Given the description of an element on the screen output the (x, y) to click on. 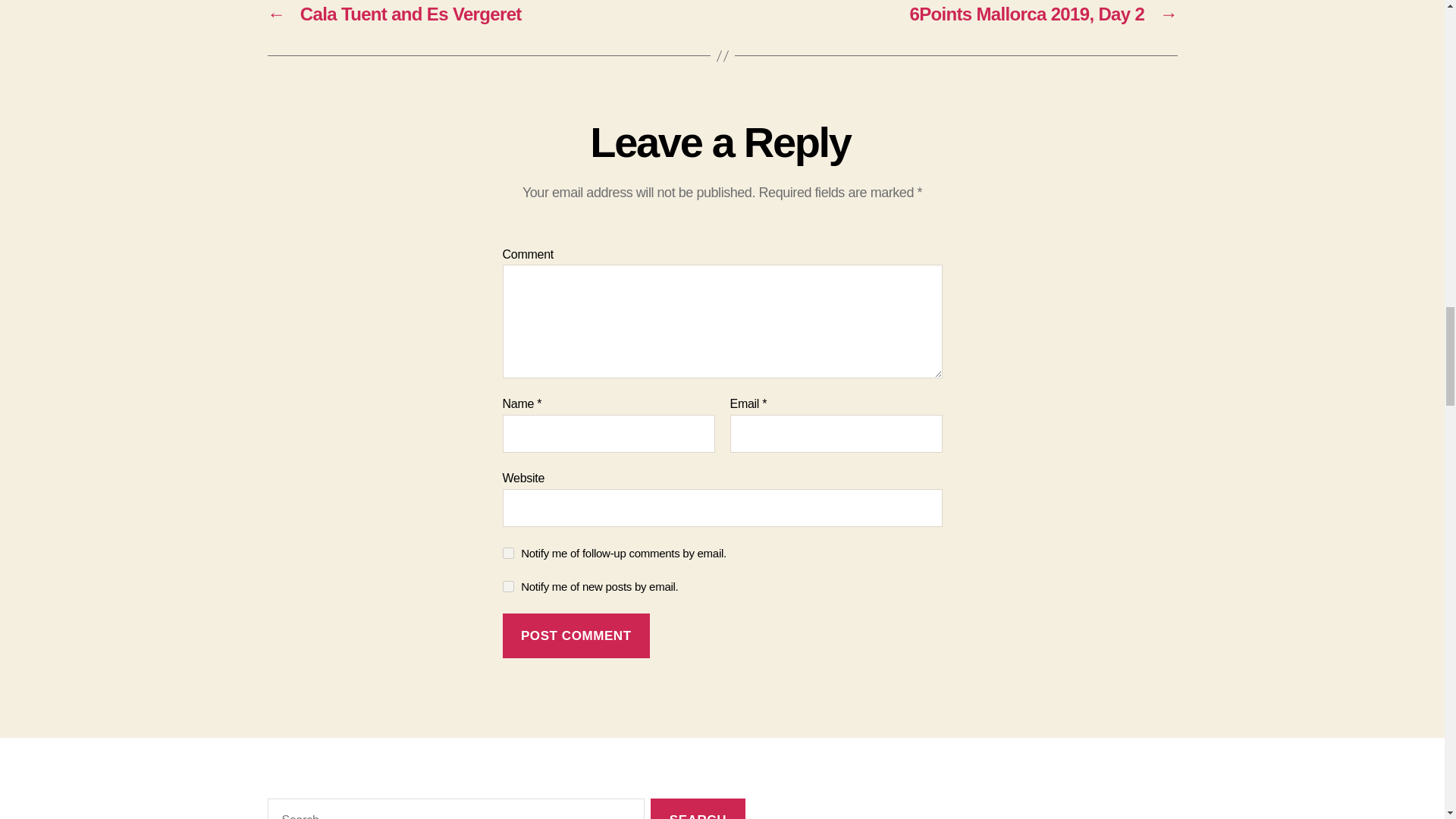
Search (697, 808)
Search (697, 808)
Post Comment (575, 635)
Search (697, 808)
subscribe (507, 552)
subscribe (507, 586)
Post Comment (575, 635)
